Given the description of an element on the screen output the (x, y) to click on. 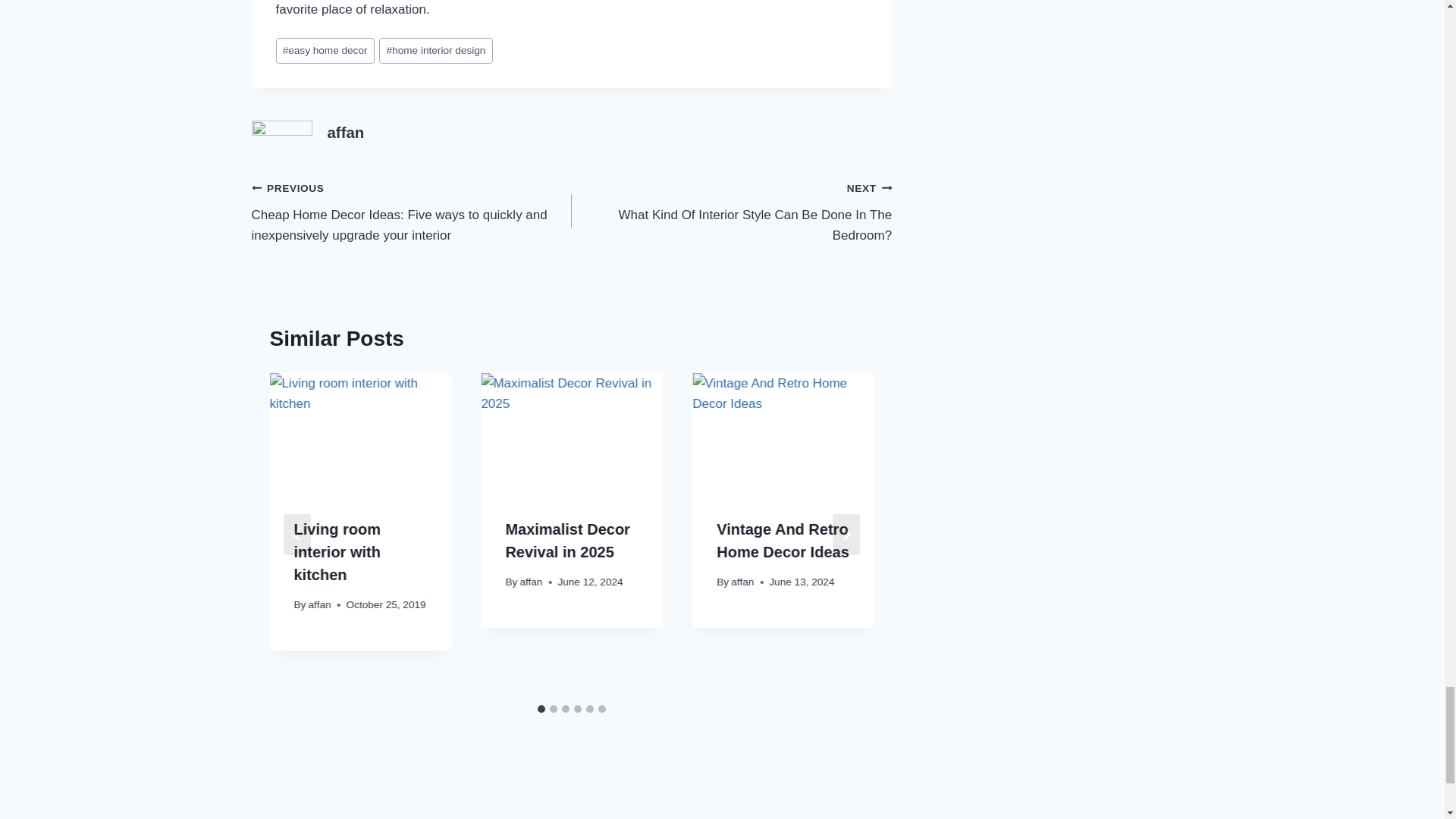
home interior design (435, 50)
affan (731, 211)
Posts by affan (346, 132)
easy home decor (346, 132)
